Given the description of an element on the screen output the (x, y) to click on. 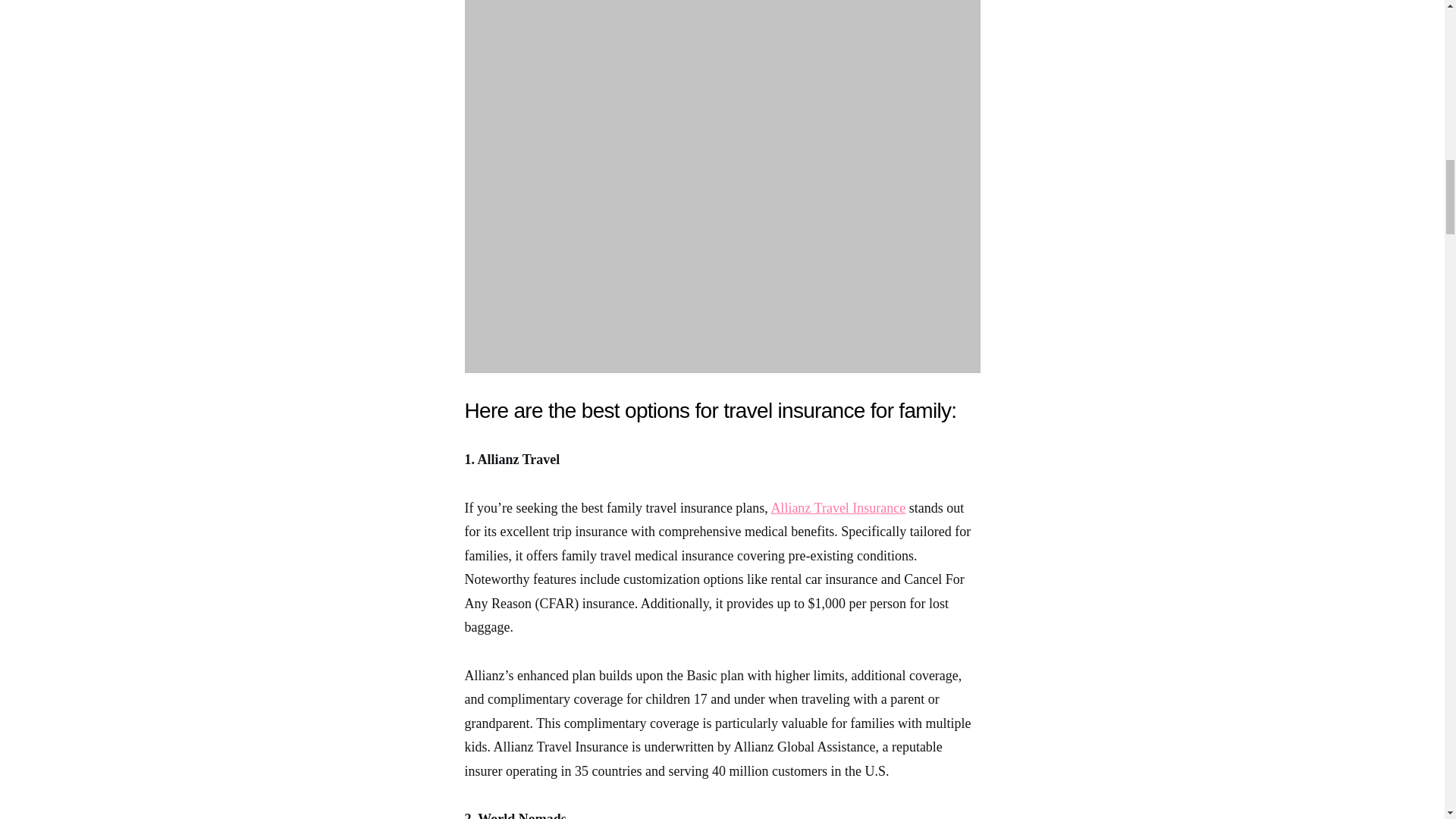
Allianz Travel Insurance (837, 507)
